Given the description of an element on the screen output the (x, y) to click on. 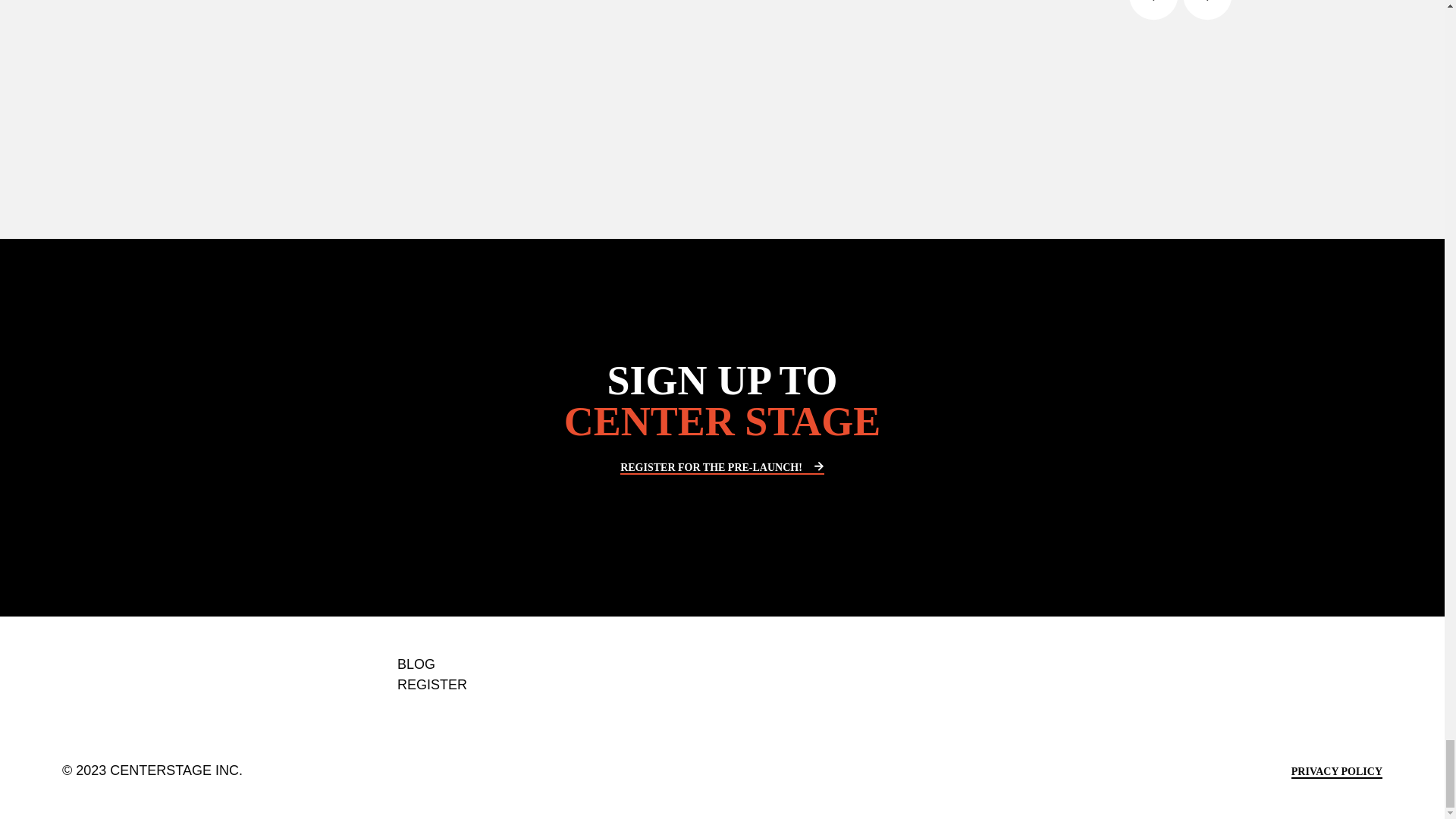
REGISTER (512, 684)
PRIVACY POLICY (1336, 771)
REGISTER FOR THE PRE-LAUNCH! (722, 468)
BLOG (512, 664)
